Given the description of an element on the screen output the (x, y) to click on. 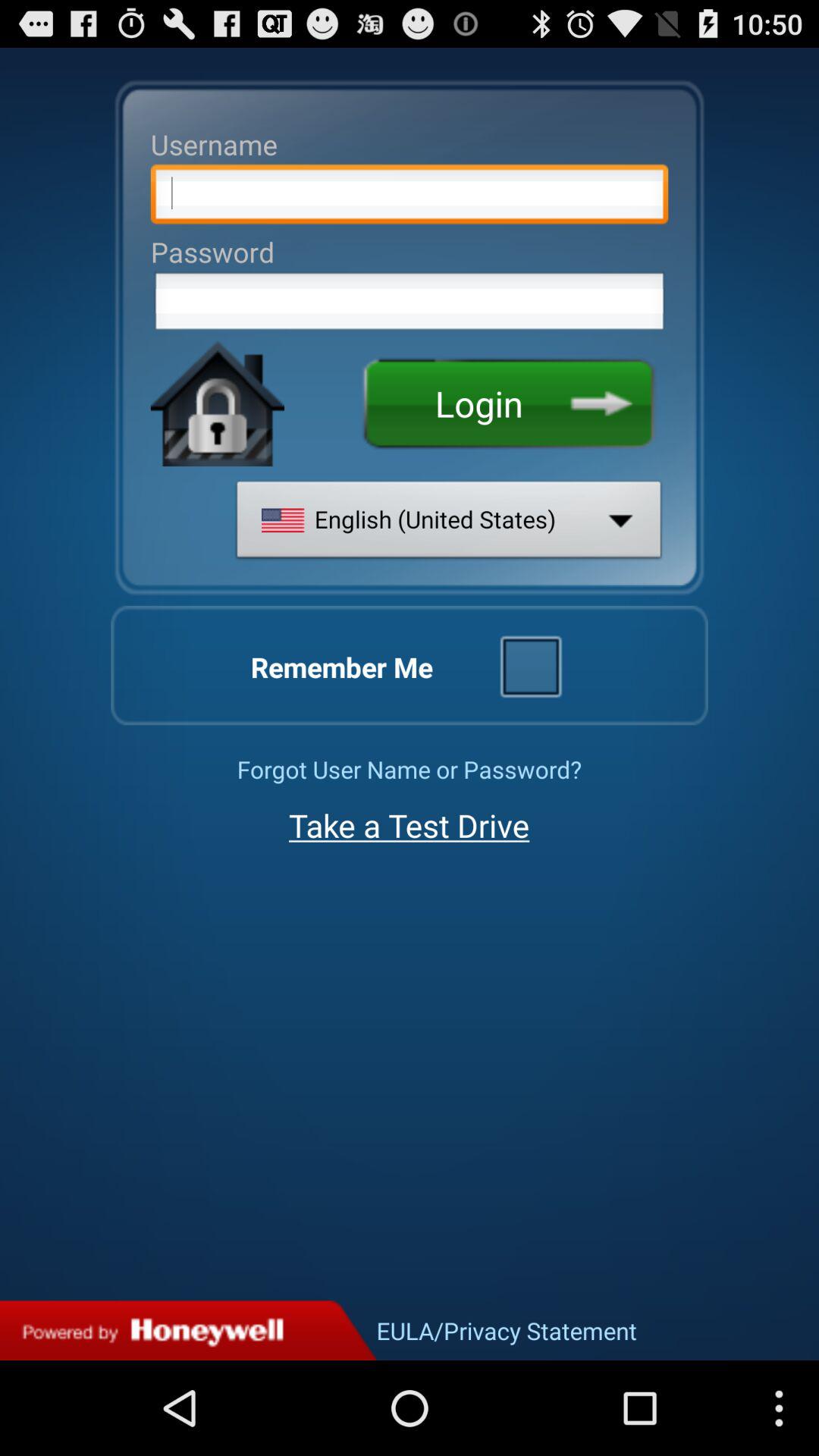
advertising (188, 1330)
